Given the description of an element on the screen output the (x, y) to click on. 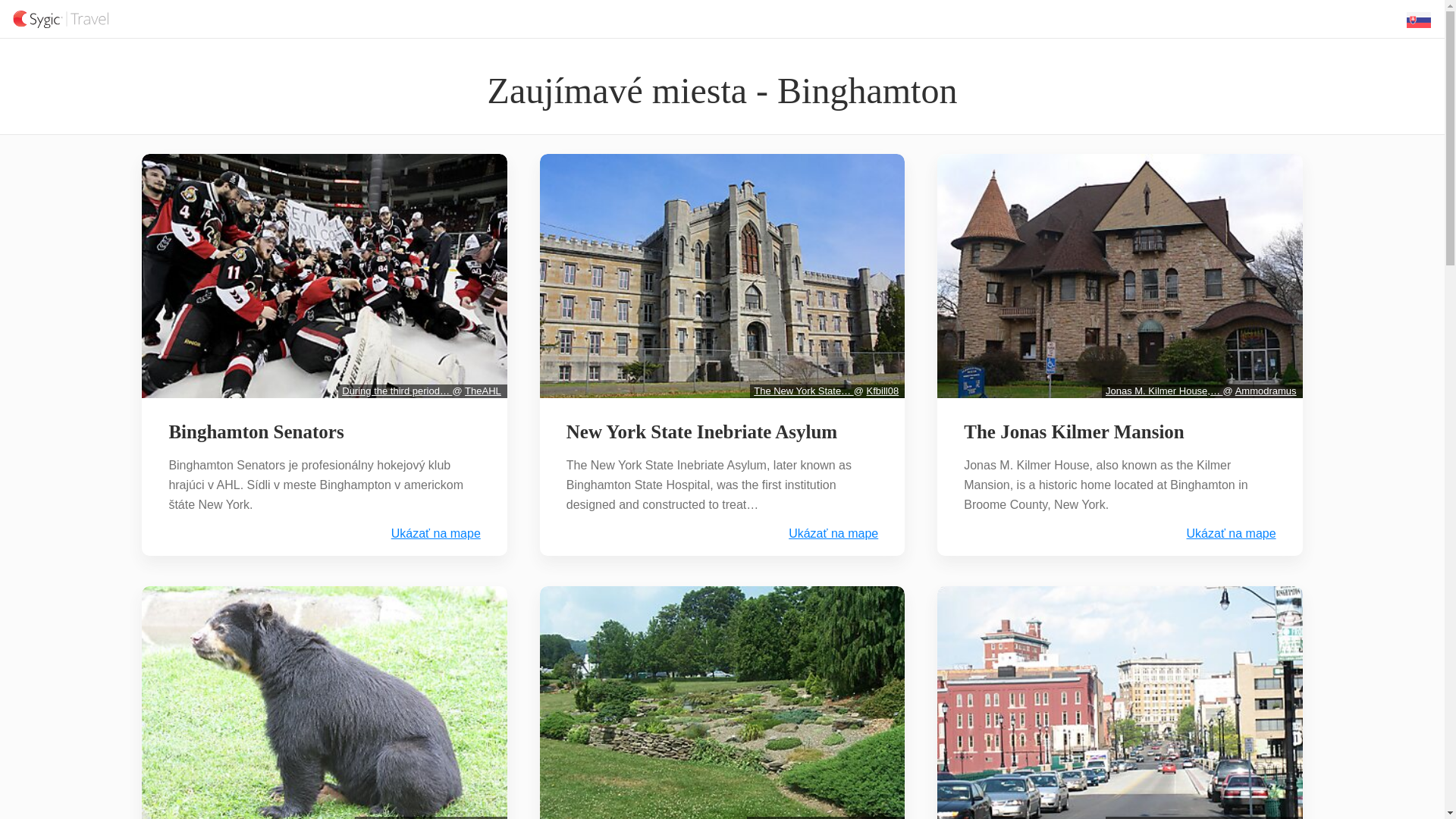
Kfbill08 (882, 390)
Jennifer (880, 818)
New York State Inebriate Asylum (701, 431)
Binghamton Senators (255, 431)
Alex Erde (479, 818)
TheAHL (482, 390)
